Given the description of an element on the screen output the (x, y) to click on. 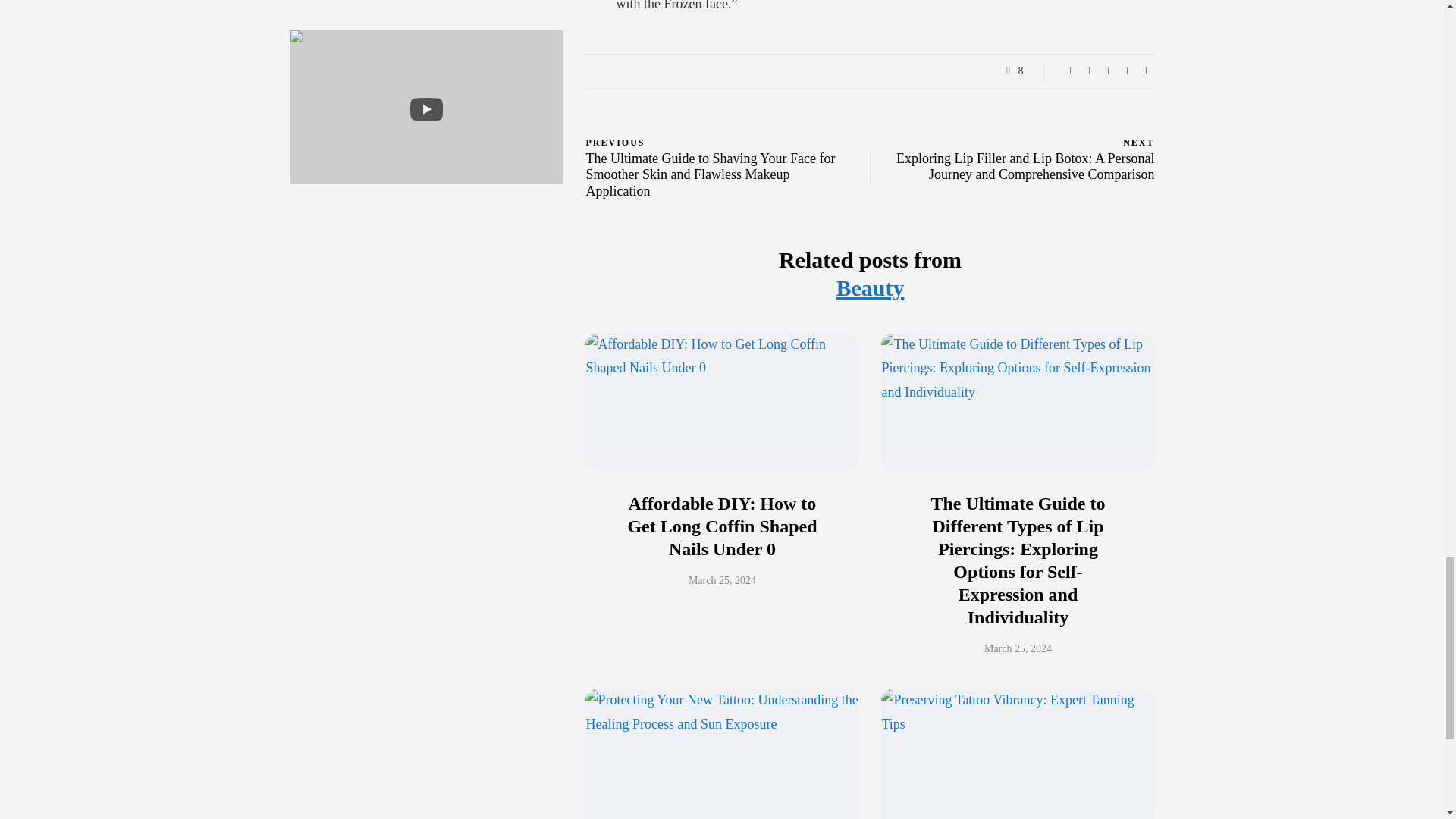
Share by Email (1144, 70)
Tweet this (1087, 70)
Share with LinkedIn (1106, 70)
Beauty (869, 287)
Share with Facebook (1068, 70)
Pin this (1125, 70)
Affordable DIY: How to Get Long Coffin Shaped Nails Under 0 (721, 525)
